Given the description of an element on the screen output the (x, y) to click on. 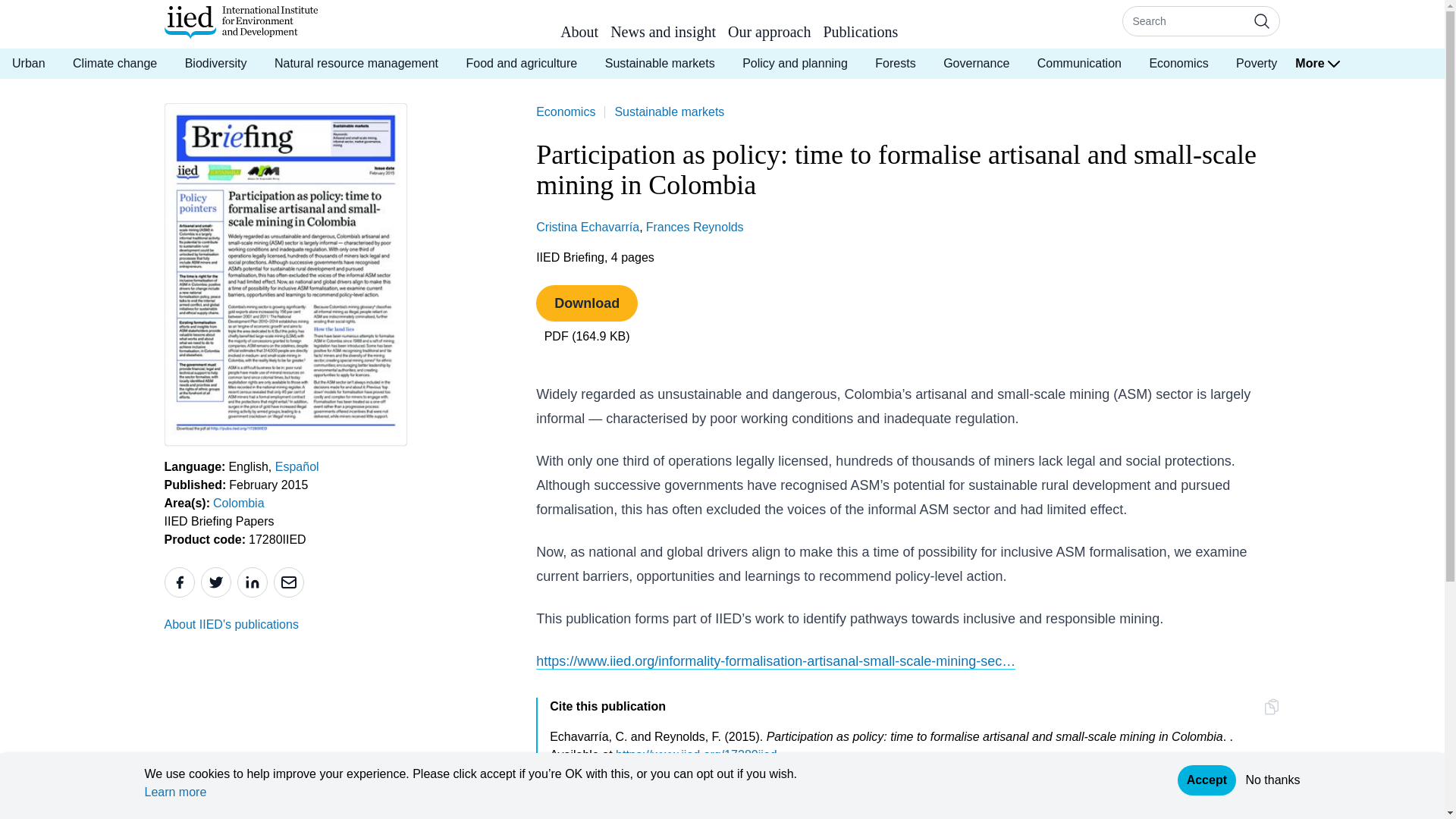
Download (586, 303)
News and insight (663, 34)
Climate change (114, 63)
Governance (976, 63)
Home (240, 22)
Natural resource management (355, 63)
About (579, 34)
More (1325, 63)
Urban (29, 63)
Sustainable markets (668, 111)
